Given the description of an element on the screen output the (x, y) to click on. 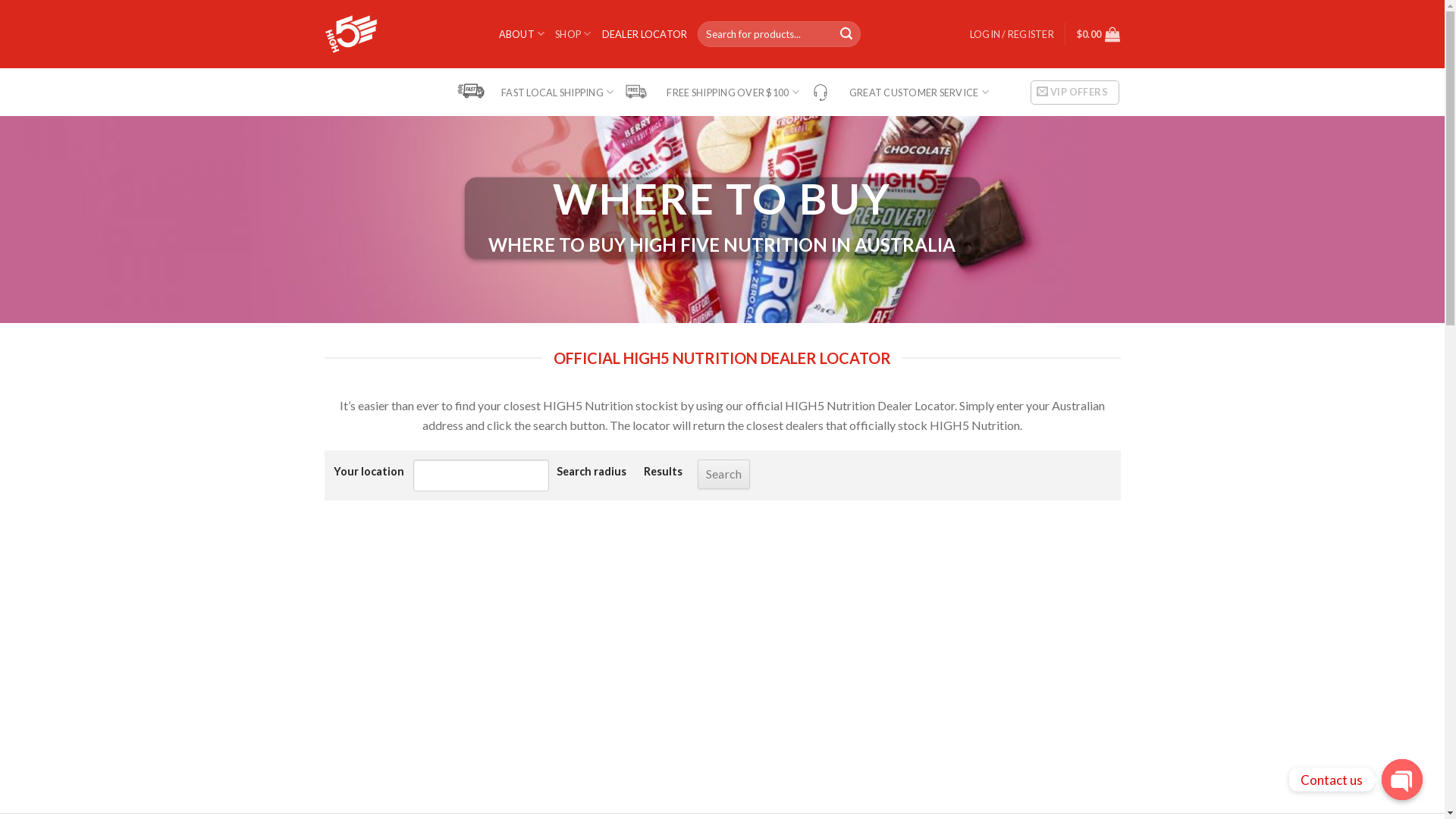
Search Element type: text (846, 34)
VIP OFFERS Element type: text (1074, 92)
FAST LOCAL SHIPPING Element type: text (534, 92)
$0.00 Element type: text (1098, 33)
Search Element type: text (723, 474)
SHOP Element type: text (572, 33)
FREE SHIPPING OVER $100 Element type: text (709, 91)
ABOUT Element type: text (521, 33)
GREAT CUSTOMER SERVICE Element type: text (897, 91)
DEALER LOCATOR Element type: text (644, 33)
LOGIN / REGISTER Element type: text (1011, 33)
